Given the description of an element on the screen output the (x, y) to click on. 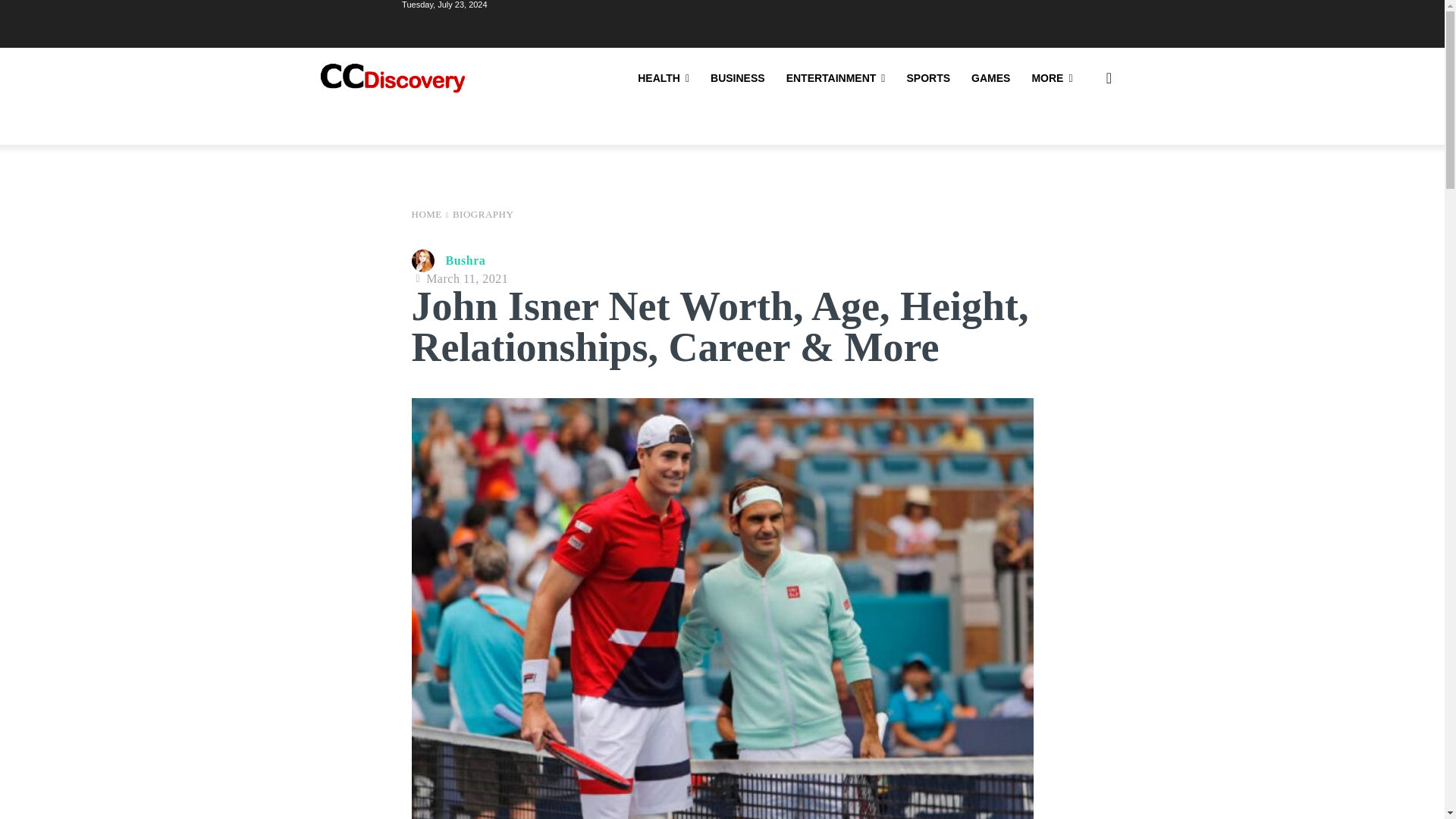
View all posts in Biography (482, 214)
HEALTH (663, 77)
Bushra (425, 260)
BUSINESS (738, 77)
ENTERTAINMENT (836, 77)
